Given the description of an element on the screen output the (x, y) to click on. 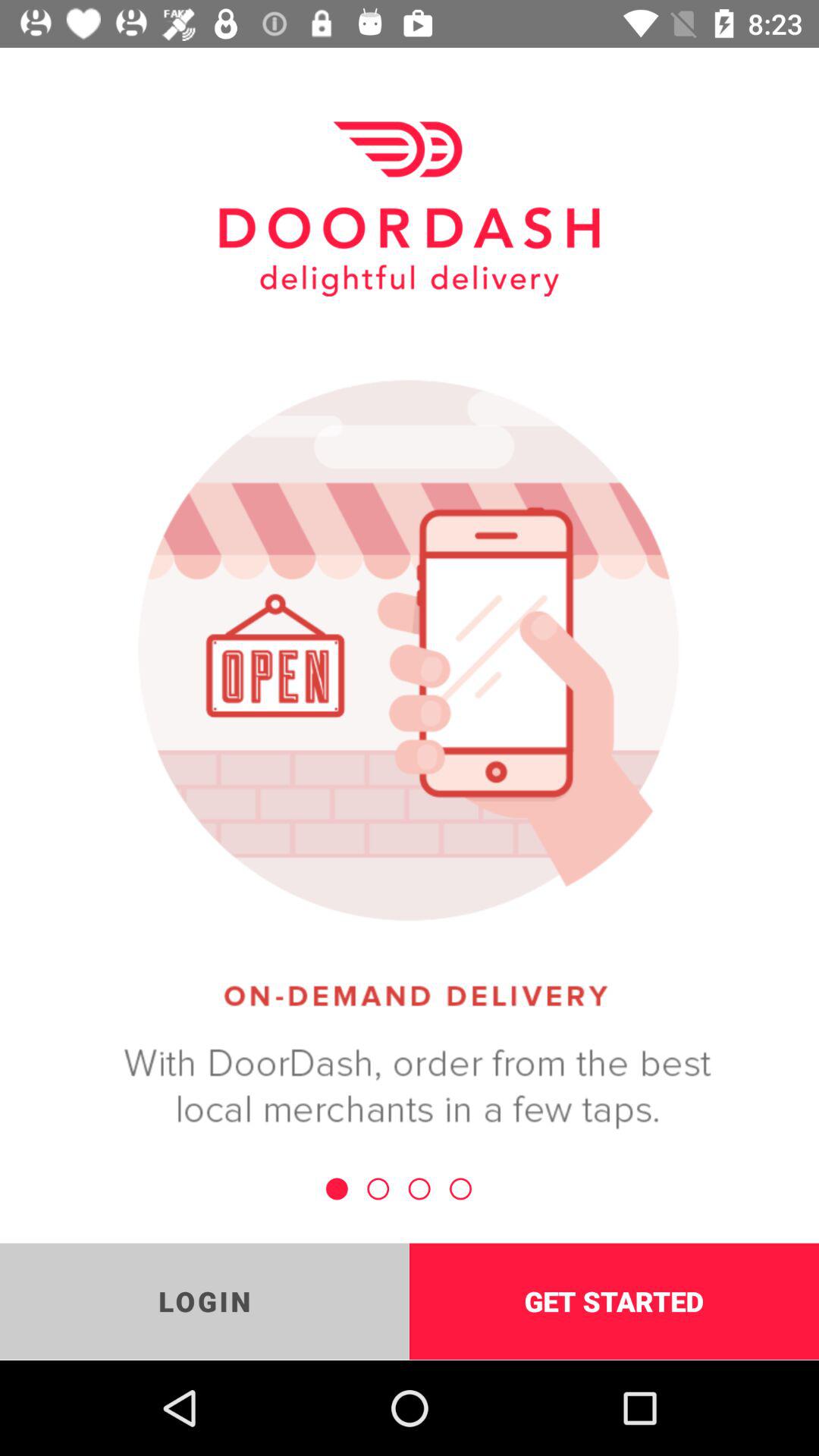
choose get started at the bottom right corner (614, 1301)
